Given the description of an element on the screen output the (x, y) to click on. 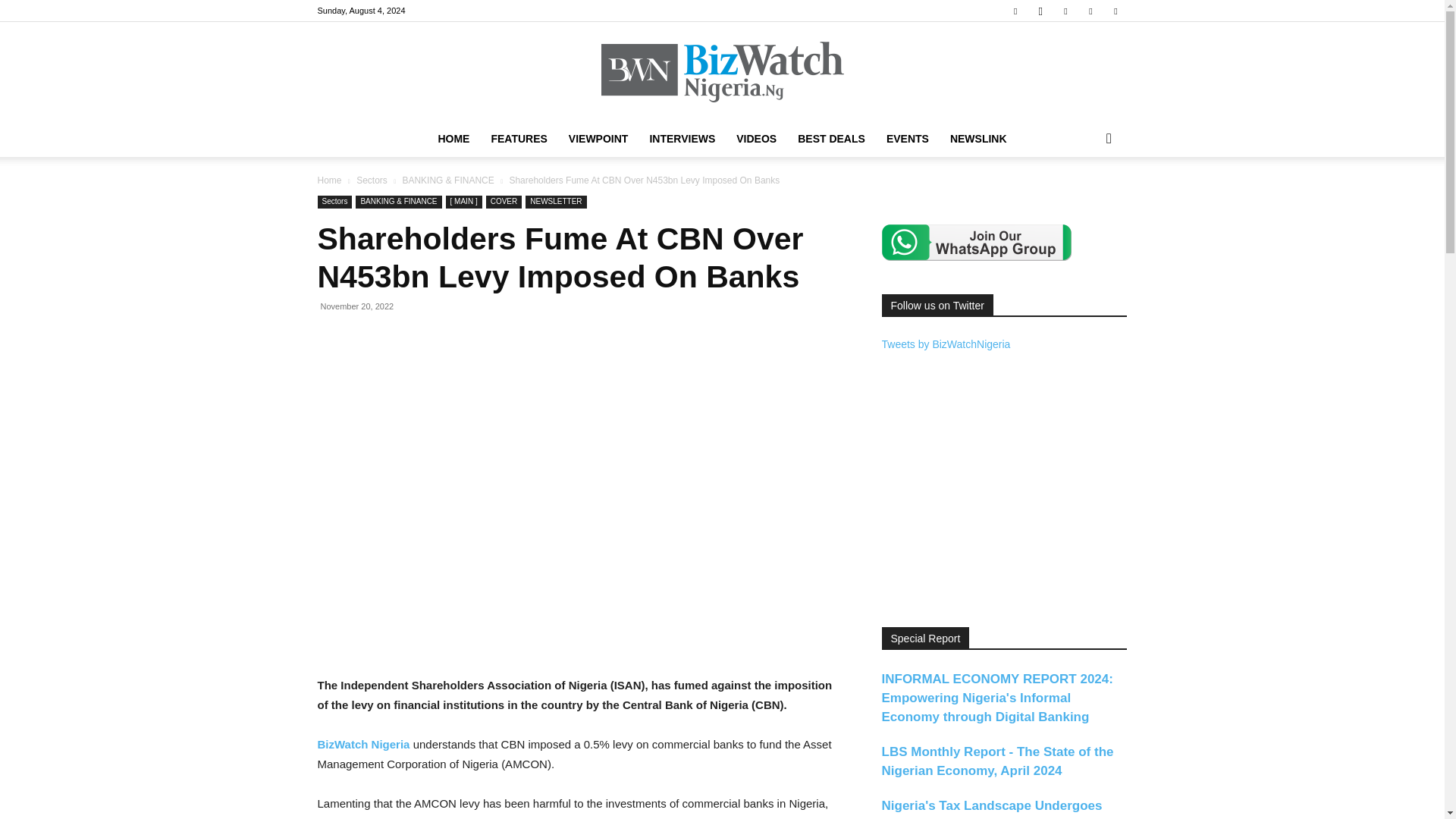
HOME (453, 138)
Youtube (1114, 10)
Twitter (1090, 10)
Facebook (1015, 10)
Linkedin (1065, 10)
Instagram (1040, 10)
FEATURES (518, 138)
